Given the description of an element on the screen output the (x, y) to click on. 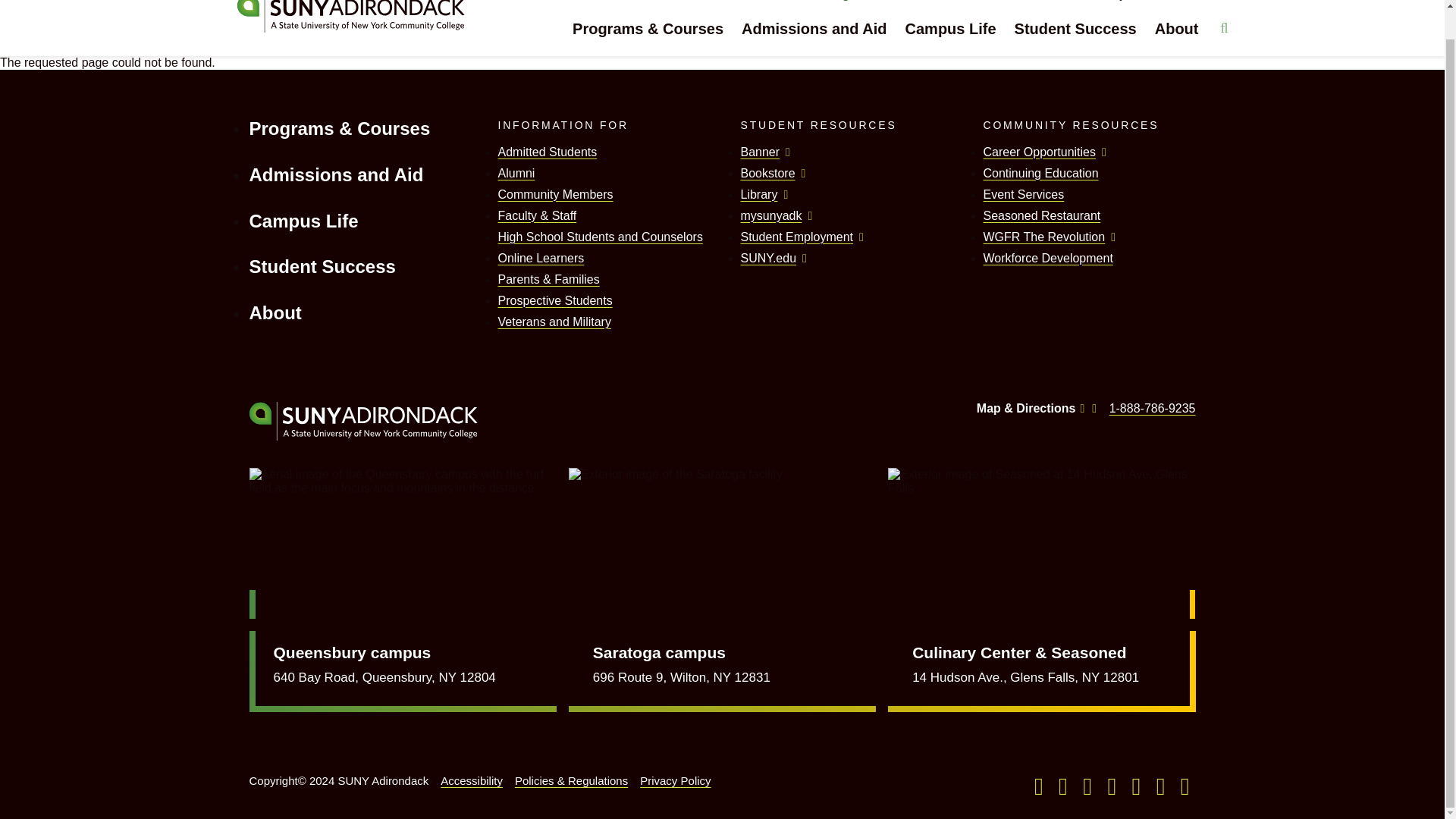
Click to open (1131, 2)
Click to open (1227, 2)
Athletics (998, 0)
Visit to the homepage (338, 29)
Admissions and Aid (813, 38)
